Given the description of an element on the screen output the (x, y) to click on. 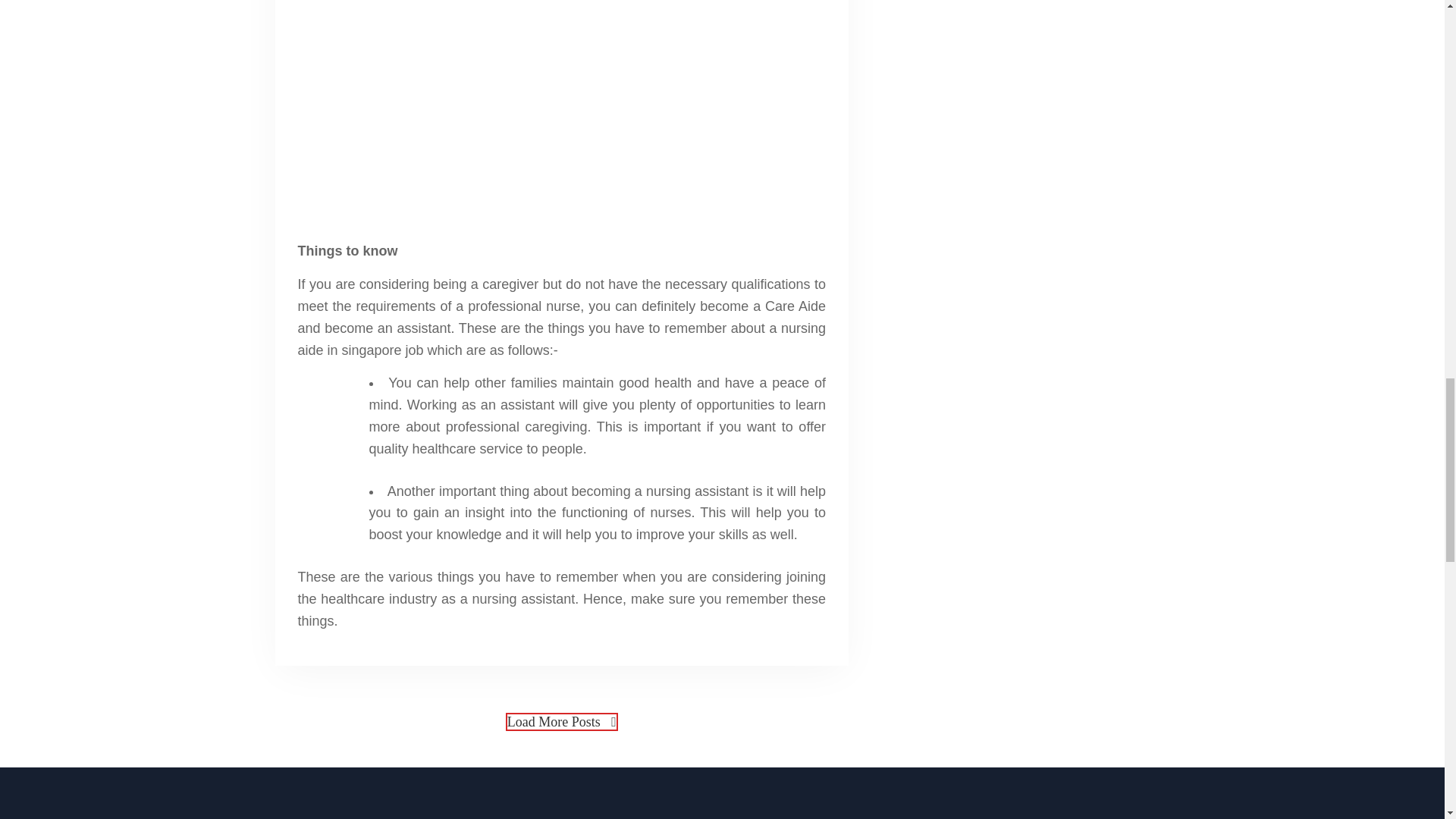
Load More Posts (561, 721)
